Given the description of an element on the screen output the (x, y) to click on. 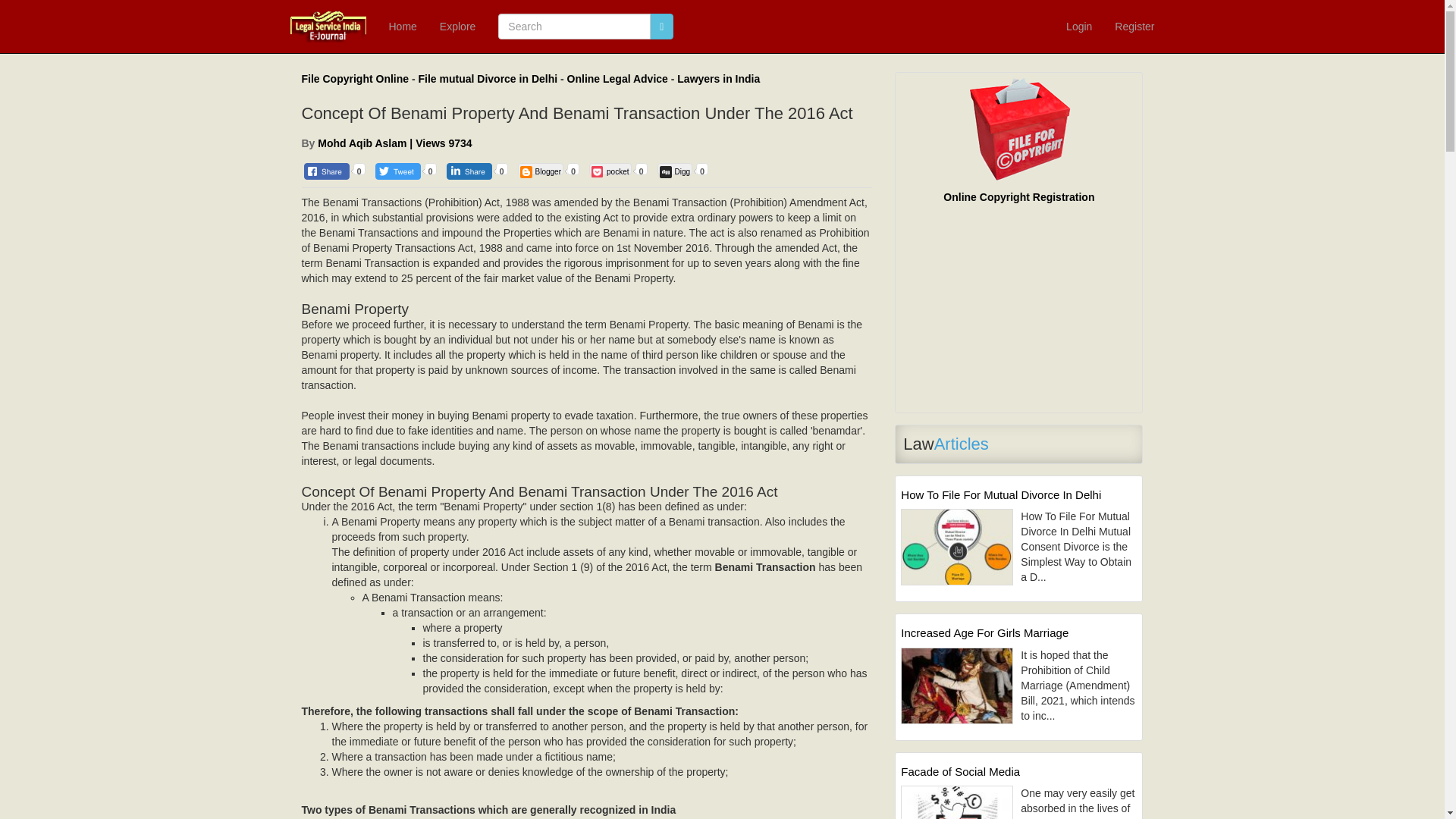
File mutual Divorce in Delhi (488, 78)
File Copyright Online (355, 78)
Lawyers in India (718, 78)
Login (1078, 26)
Copyright (355, 78)
Register (1134, 26)
Home (402, 26)
Online Legal Advice (617, 78)
Explore (457, 26)
